Given the description of an element on the screen output the (x, y) to click on. 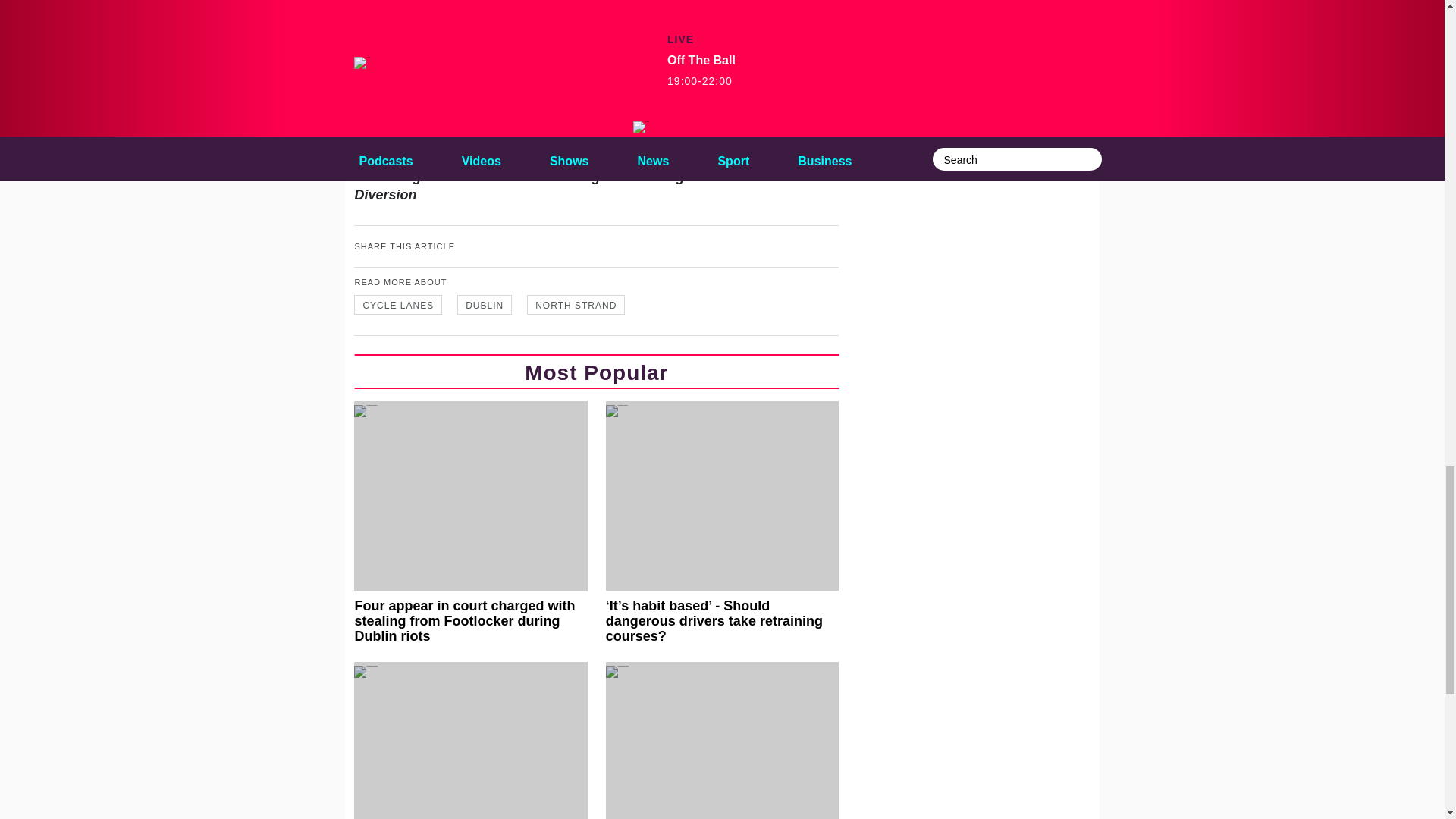
NORTH STRAND (575, 304)
Fifth man convicted in Thomas Dooley murder case (721, 740)
CYCLE LANES (397, 304)
DUBLIN (484, 304)
